Given the description of an element on the screen output the (x, y) to click on. 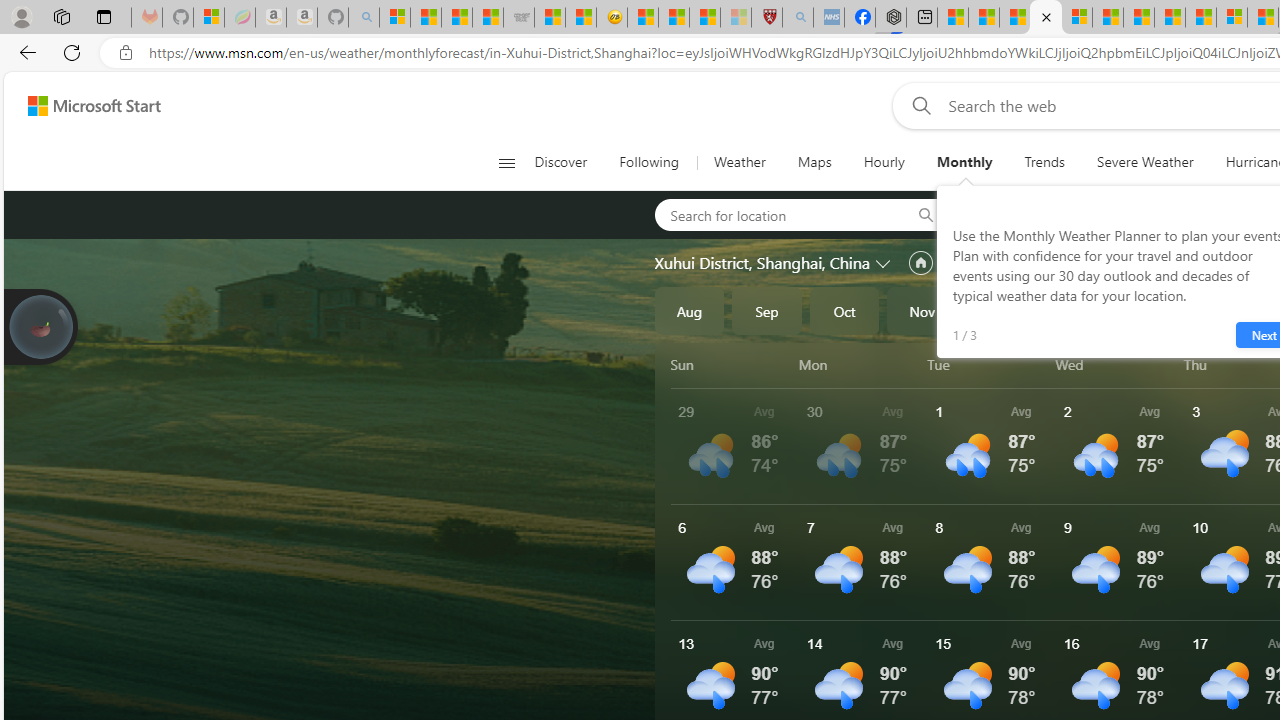
Combat Siege (518, 17)
Open navigation menu (506, 162)
Maps (813, 162)
Maps (814, 162)
Monthly (964, 162)
Mar (1233, 310)
